Given the description of an element on the screen output the (x, y) to click on. 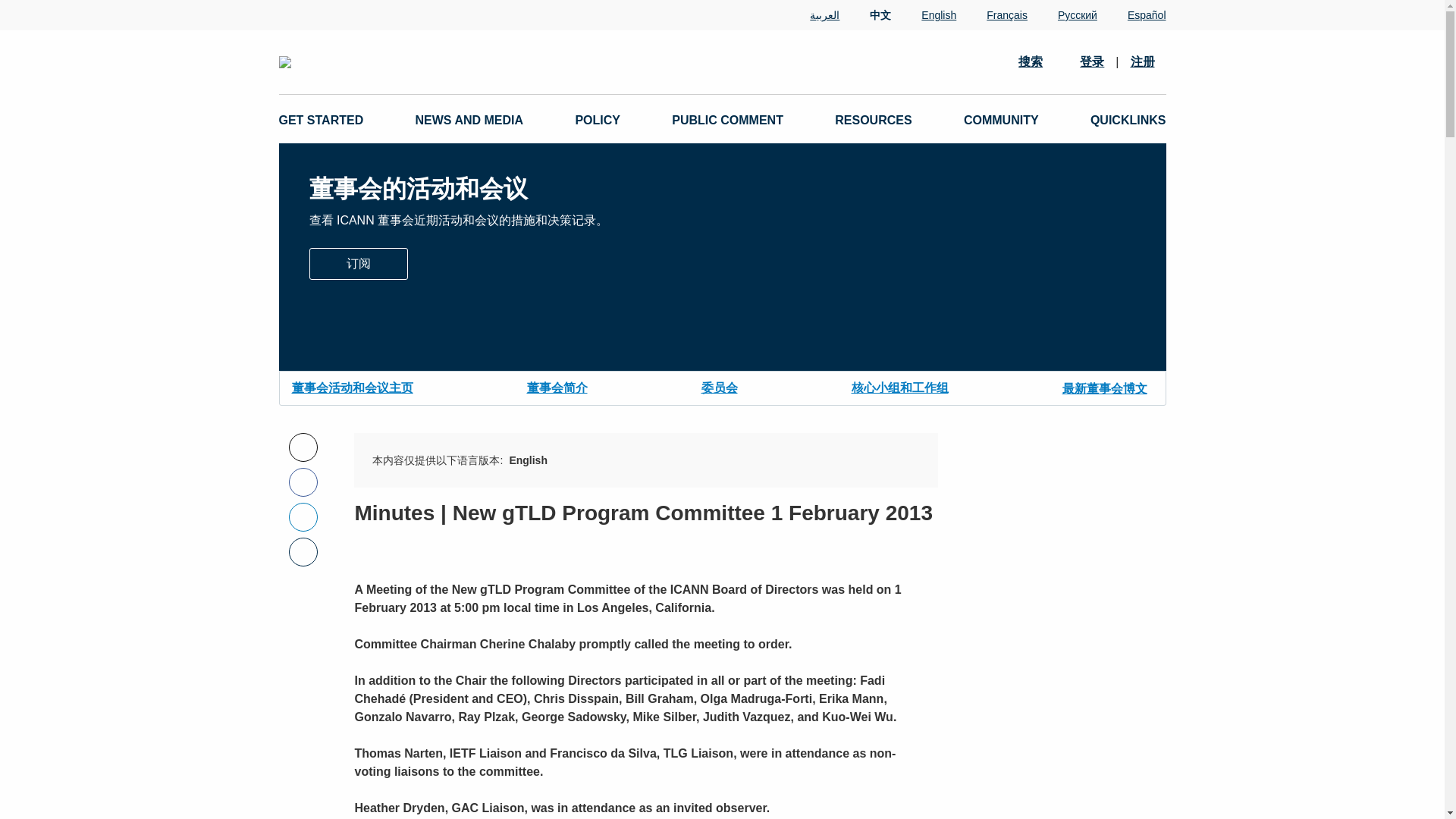
GET STARTED (321, 120)
COMMUNITY (1001, 120)
NEWS AND MEDIA (469, 120)
Logo (452, 61)
PUBLIC COMMENT (727, 120)
POLICY (597, 120)
English (923, 14)
RESOURCES (872, 120)
QUICKLINKS (1128, 120)
